Given the description of an element on the screen output the (x, y) to click on. 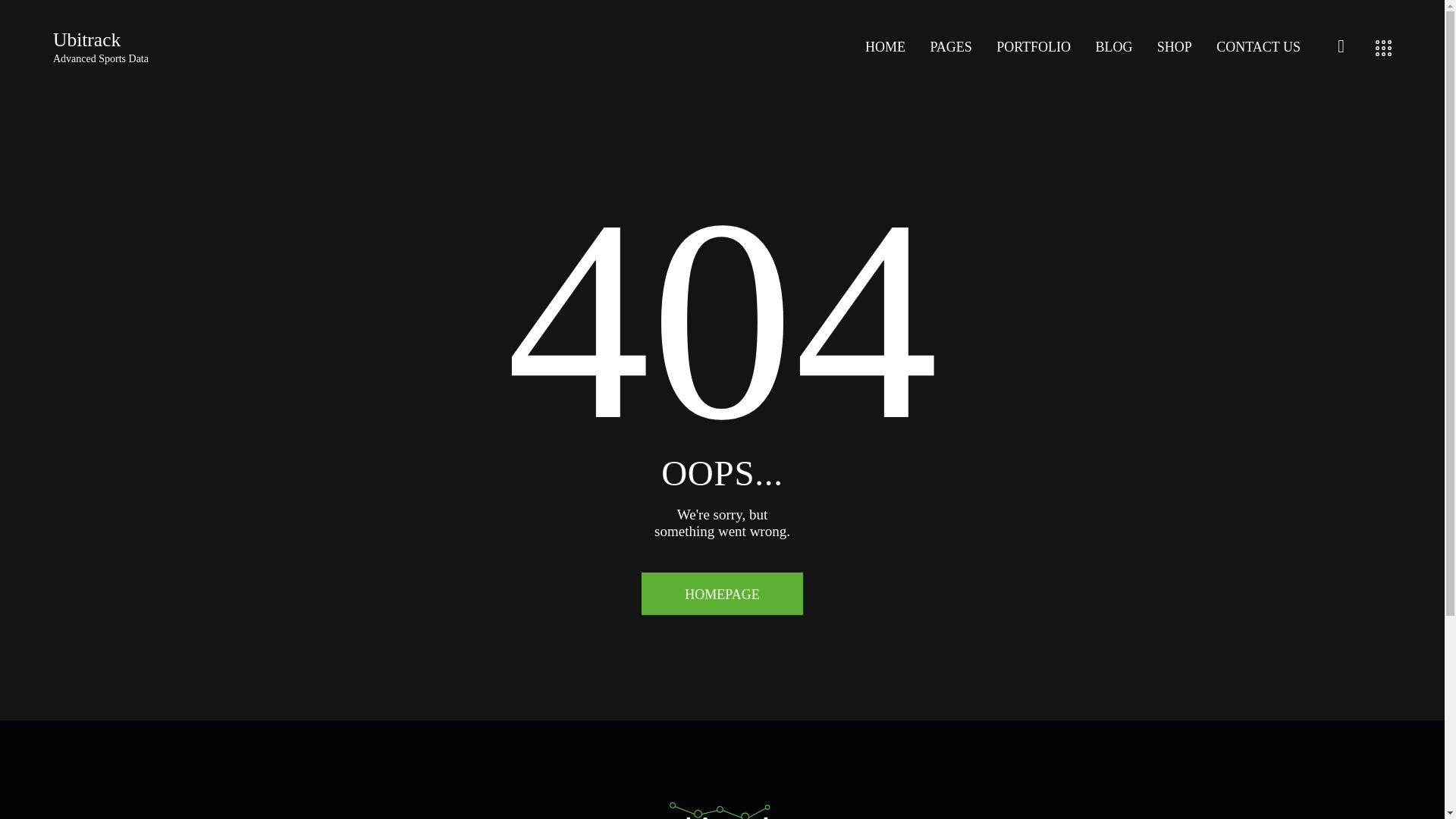
HOME (885, 48)
PORTFOLIO (100, 46)
PAGES (1033, 48)
CONTACT US (950, 48)
BLOG (1258, 48)
SHOP (1113, 48)
